Given the description of an element on the screen output the (x, y) to click on. 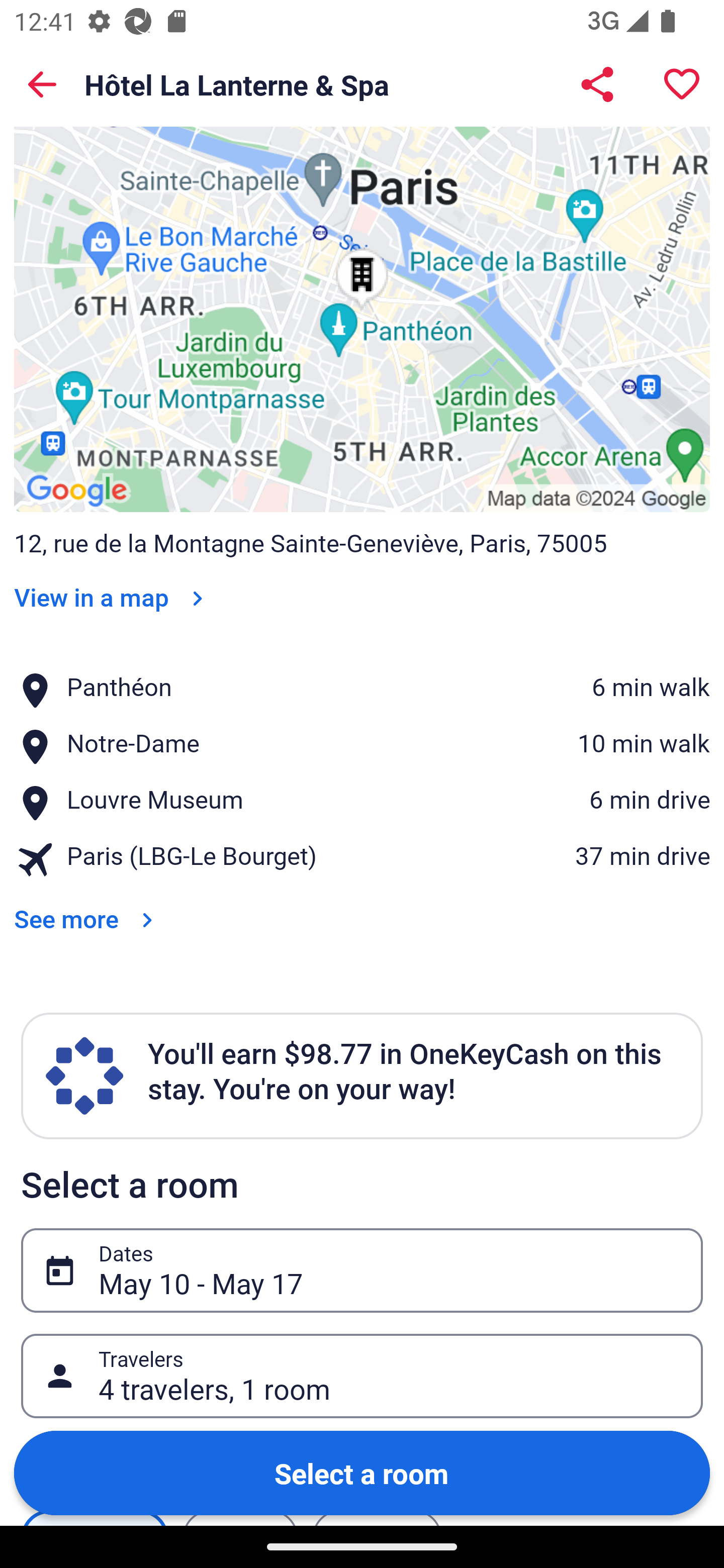
Back (42, 84)
Save property to a trip (681, 84)
Share Hôtel La Lanterne & Spa (597, 84)
See more (86, 905)
May 10 - May 17 (390, 1269)
4 travelers, 1 room (390, 1375)
Select a room Button Select a room (361, 1472)
